Given the description of an element on the screen output the (x, y) to click on. 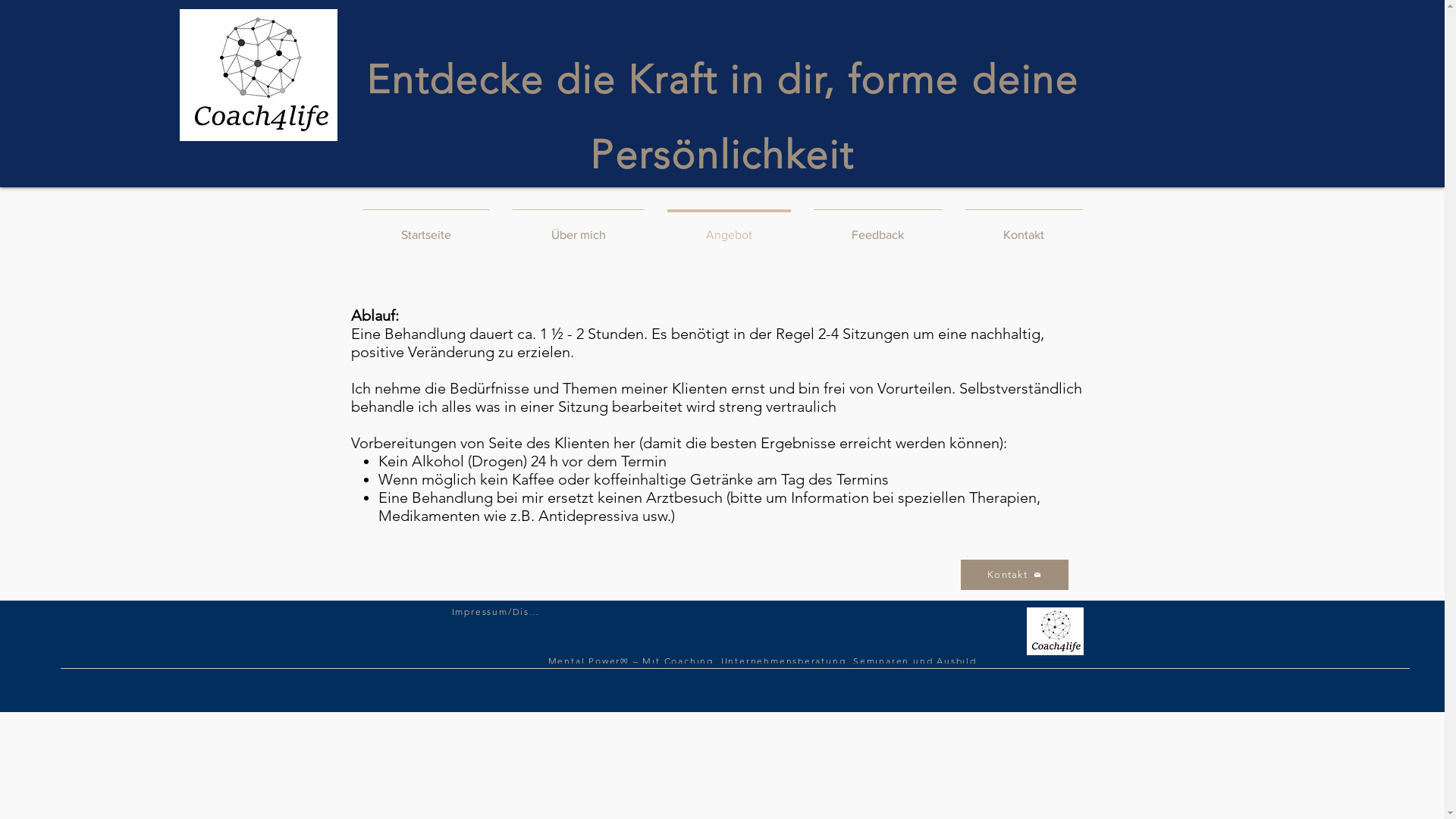
Kontakt Element type: text (1013, 574)
Logo Coach4life_instagram_edited.jpg Element type: hover (257, 75)
Feedback Element type: text (877, 228)
Angebot Element type: text (728, 228)
Kontakt Element type: text (1023, 228)
Impressum/Disclaim Element type: text (497, 611)
Startseite Element type: text (425, 228)
Logo Coach4life_instagram_edited.jpg Element type: hover (1054, 631)
